Given the description of an element on the screen output the (x, y) to click on. 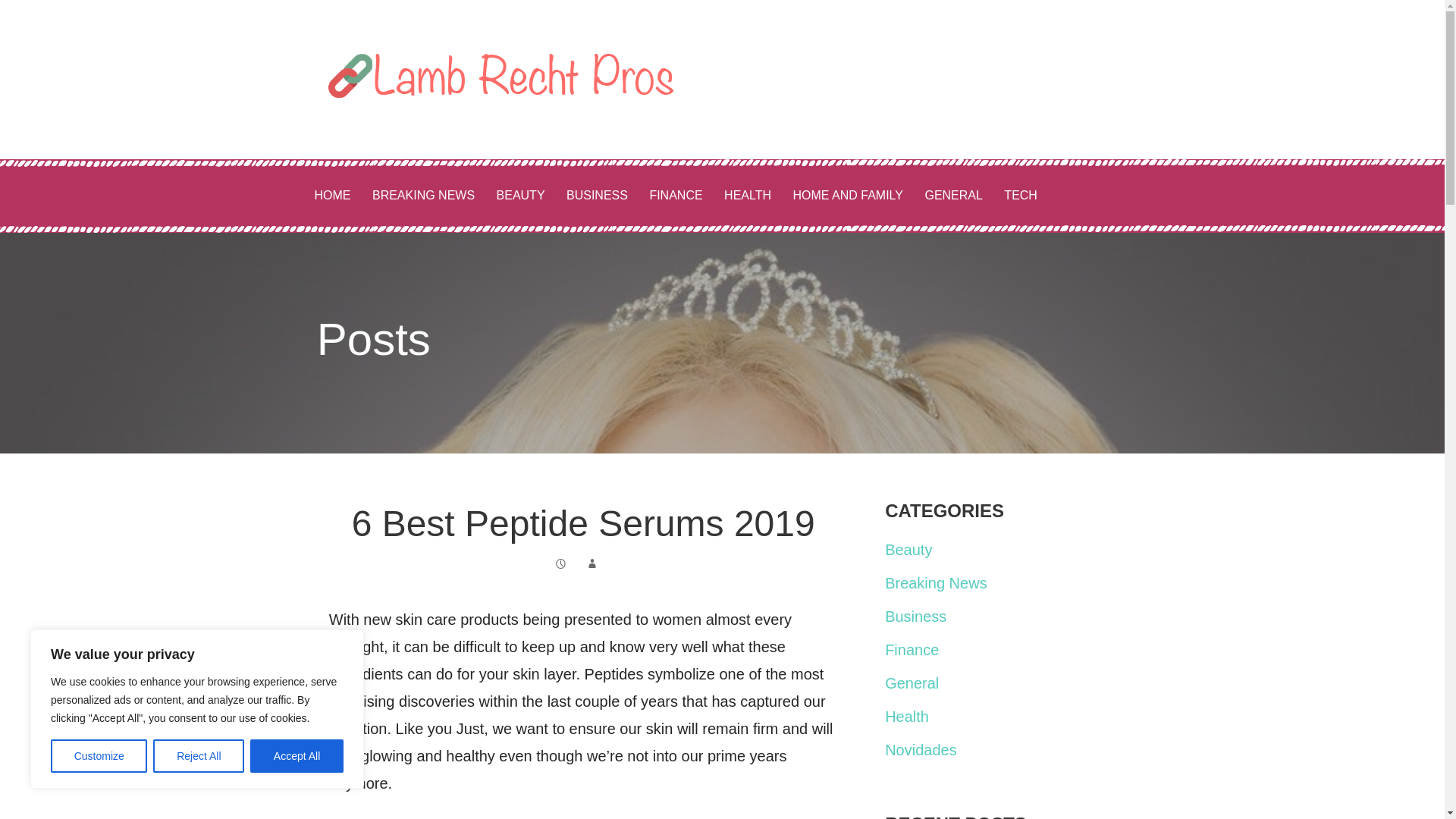
Customize (98, 756)
Breaking News (936, 582)
BUSINESS (597, 196)
GENERAL (953, 196)
HEALTH (747, 196)
Business (915, 616)
General (912, 682)
Reject All (198, 756)
HOME (331, 196)
FINANCE (675, 196)
Accept All (296, 756)
HOME AND FAMILY (847, 196)
BREAKING NEWS (422, 196)
Beauty (908, 549)
BEAUTY (520, 196)
